Given the description of an element on the screen output the (x, y) to click on. 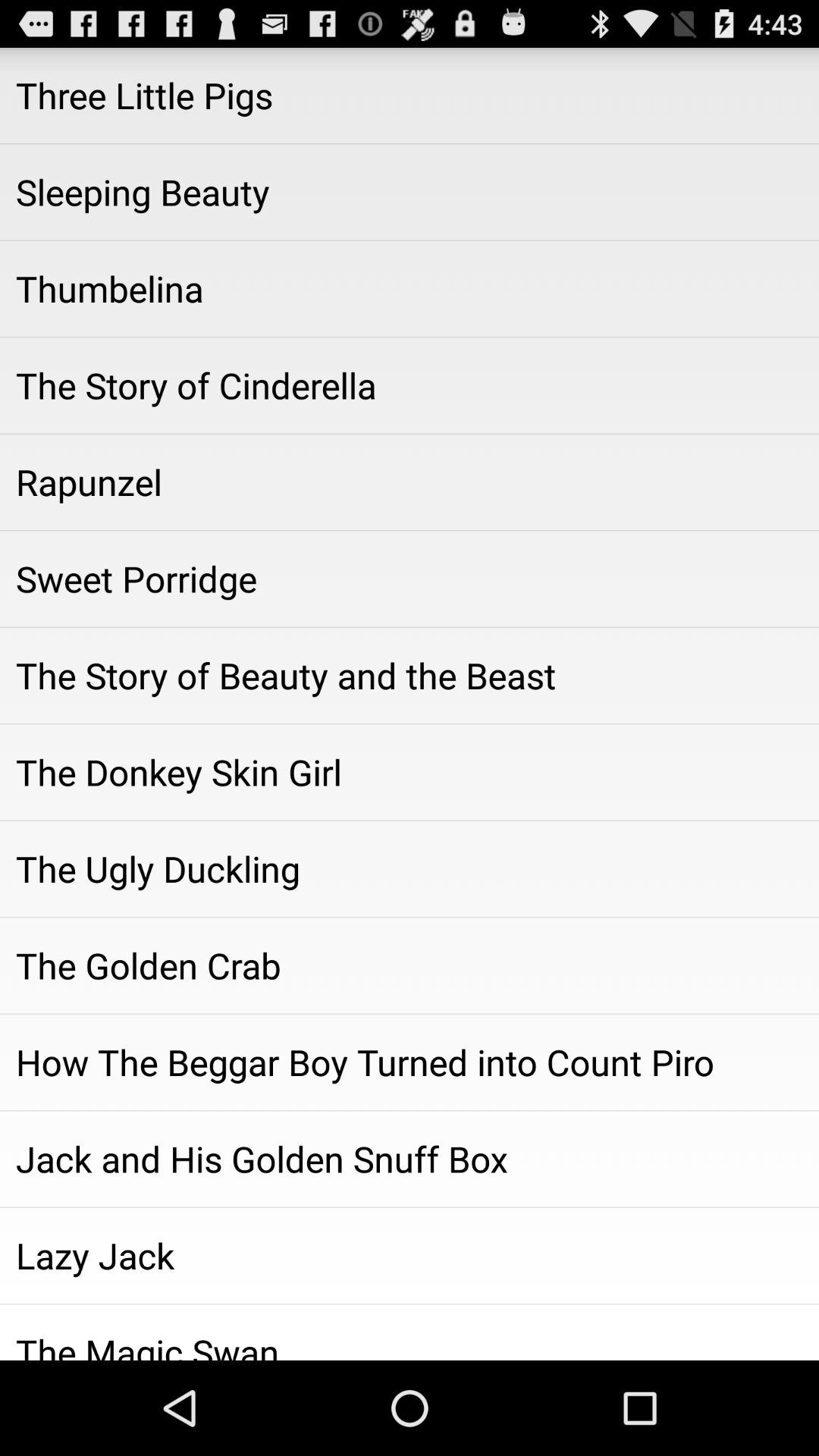
turn off the icon above thumbelina (409, 192)
